Given the description of an element on the screen output the (x, y) to click on. 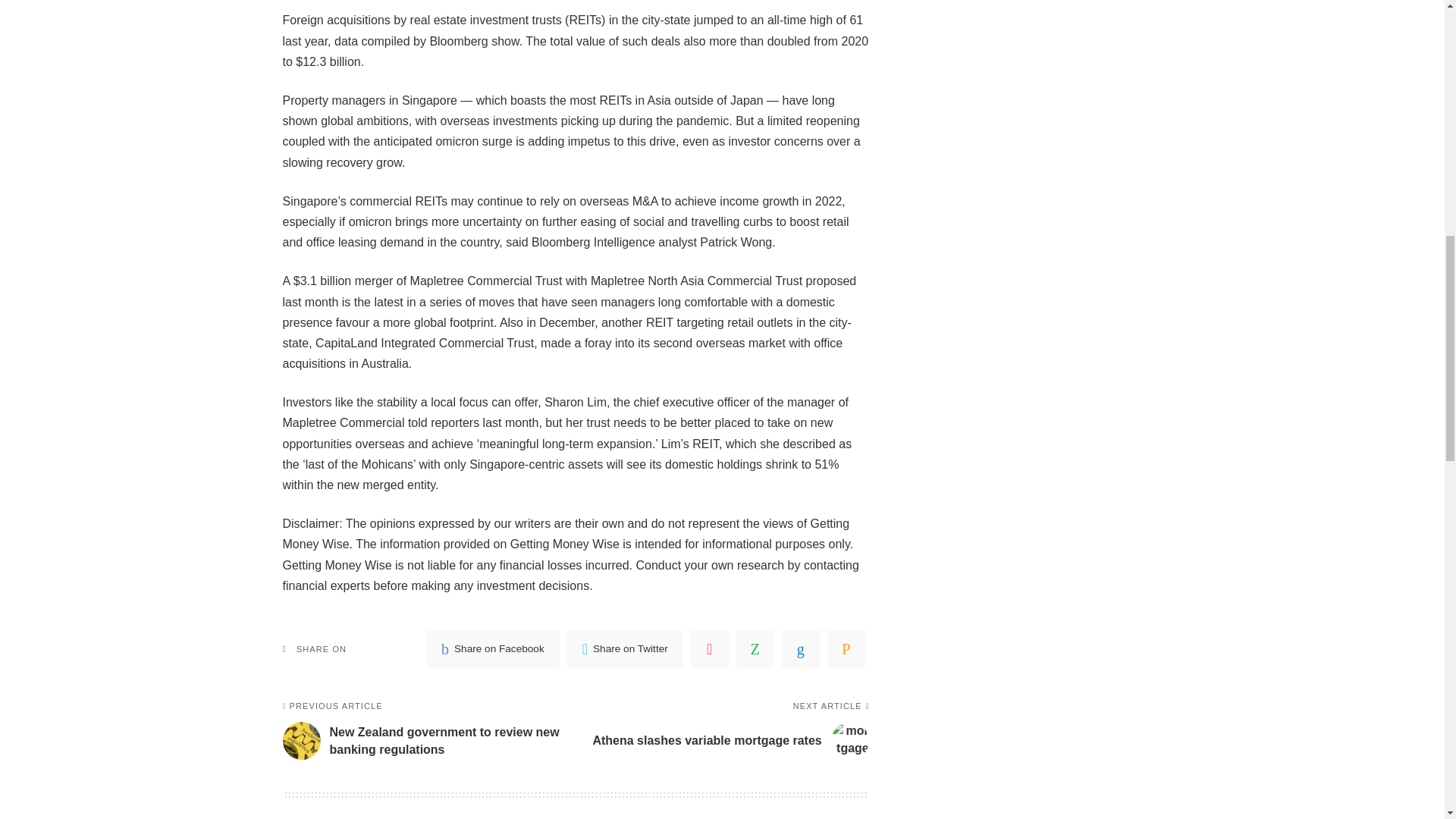
Facebook (492, 648)
Share on Facebook (492, 648)
Twitter (624, 648)
